Given the description of an element on the screen output the (x, y) to click on. 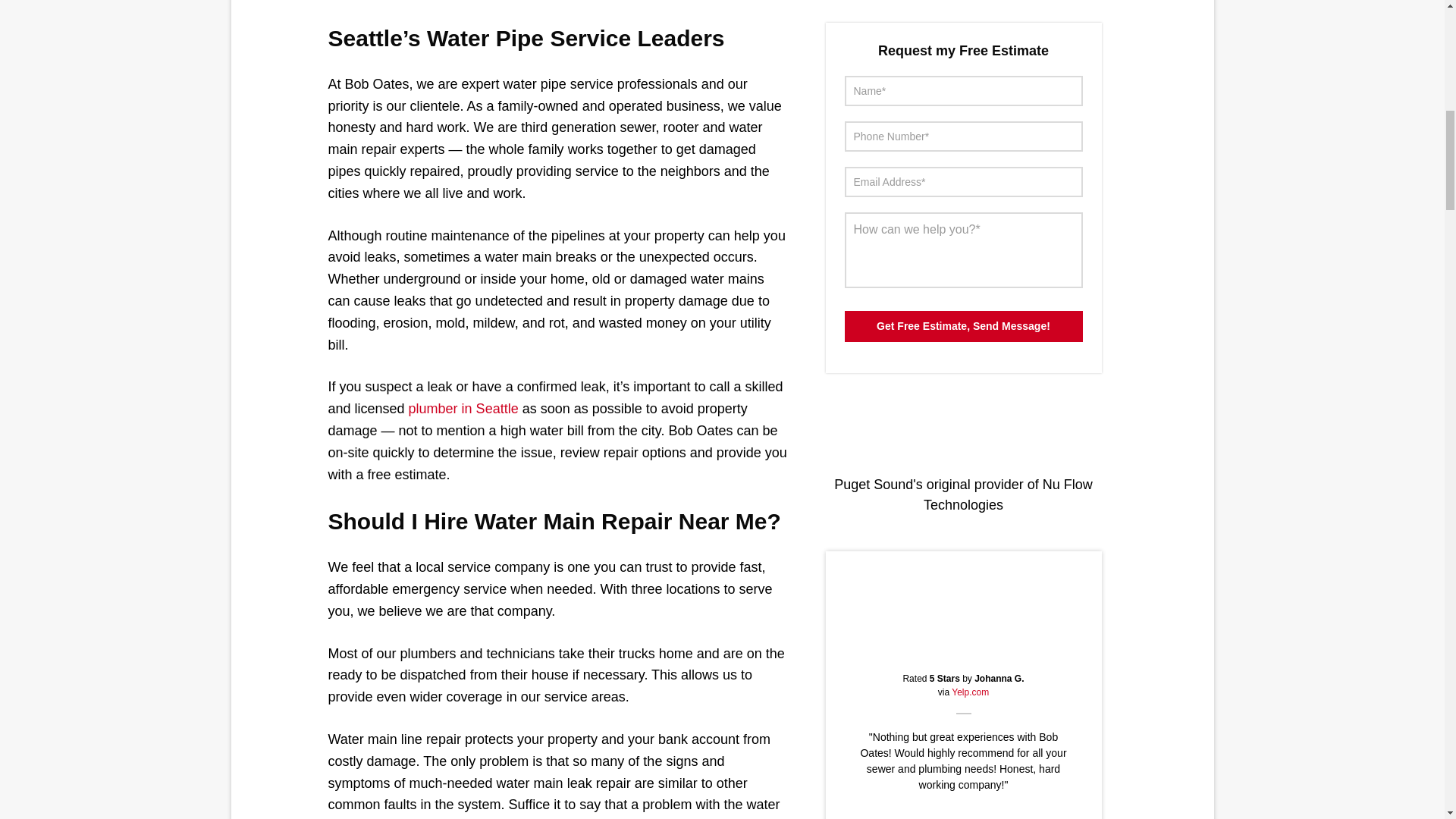
stars (963, 649)
Get Free Estimate, Send Message! (963, 326)
logo-nu-flow (963, 427)
johanna-g (963, 601)
